Given the description of an element on the screen output the (x, y) to click on. 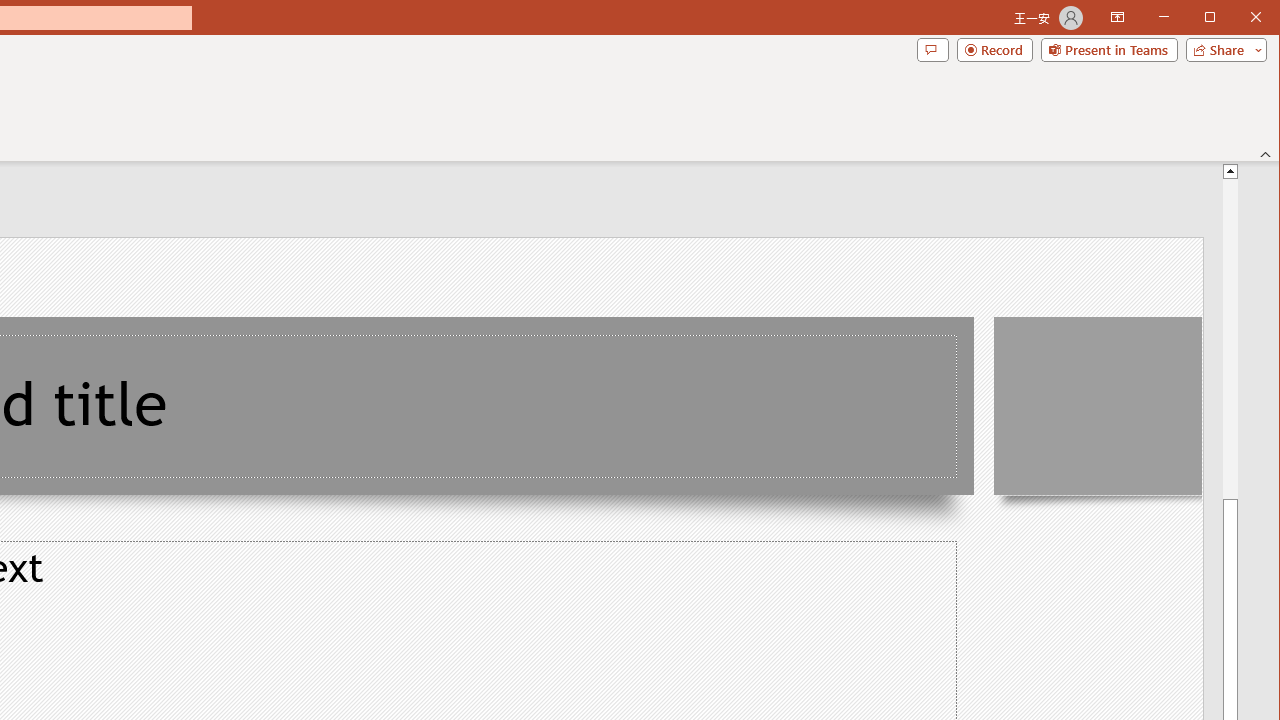
Maximize (1238, 18)
